Given the description of an element on the screen output the (x, y) to click on. 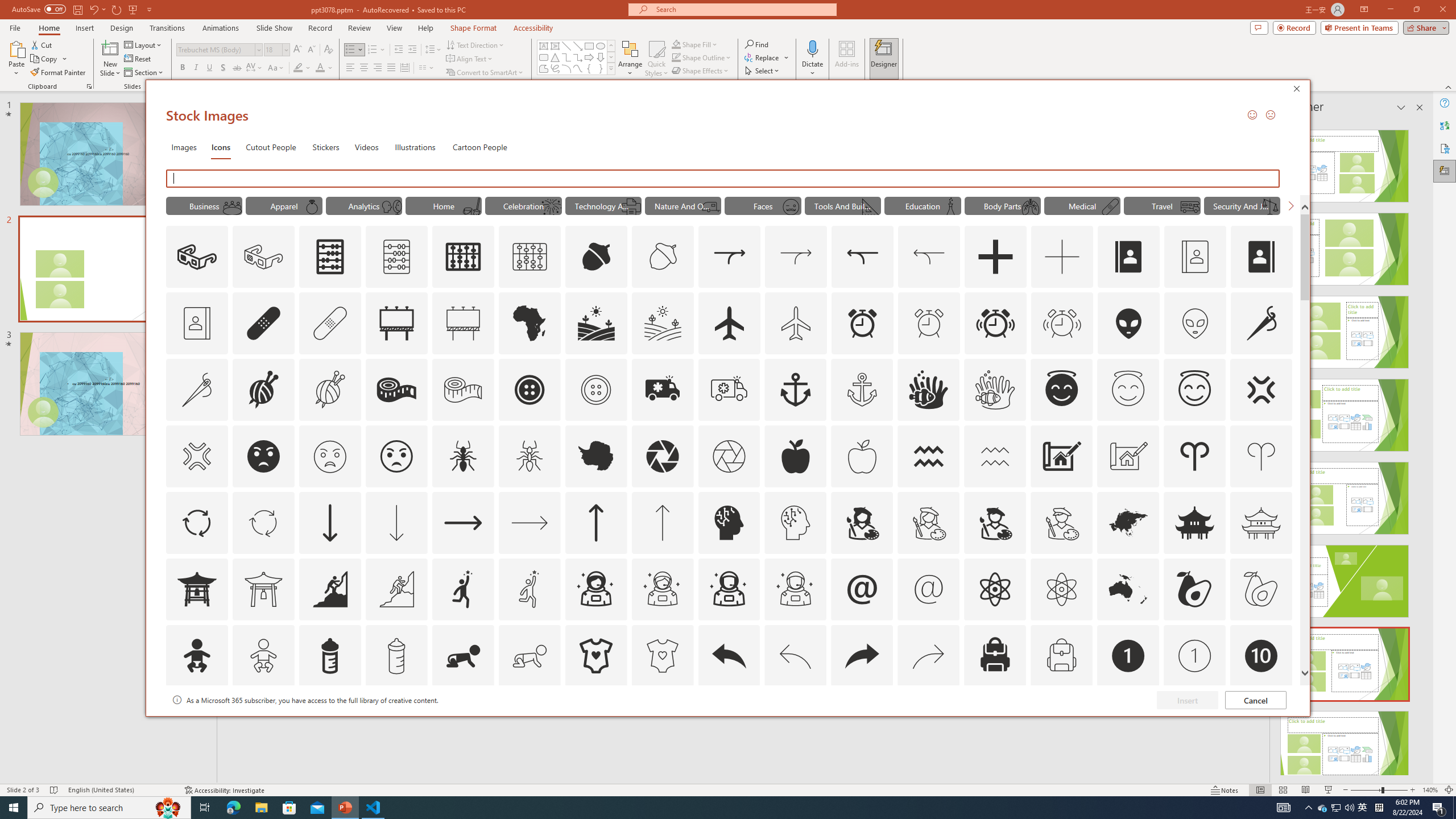
Center (363, 67)
Stickers (326, 146)
AutomationID: Icons_AddressBook_LTR (1128, 256)
Icons (220, 146)
Decrease Font Size (310, 49)
Action Center, 1 new notification (1439, 807)
Arrange (630, 58)
AutomationID: Icons_Aspiration_M (395, 588)
AutomationID: Icons_AlterationsTailoring2_M (462, 389)
